Given the description of an element on the screen output the (x, y) to click on. 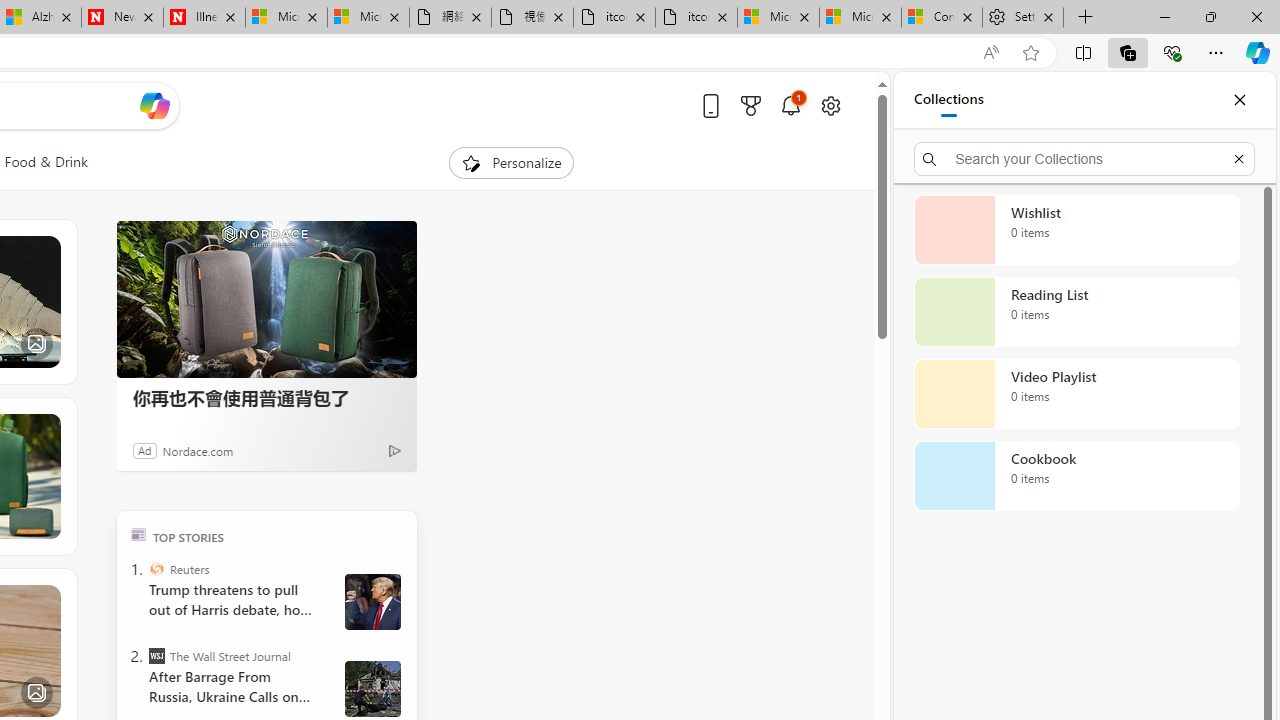
Consumer Health Data Privacy Policy (941, 17)
